Given the description of an element on the screen output the (x, y) to click on. 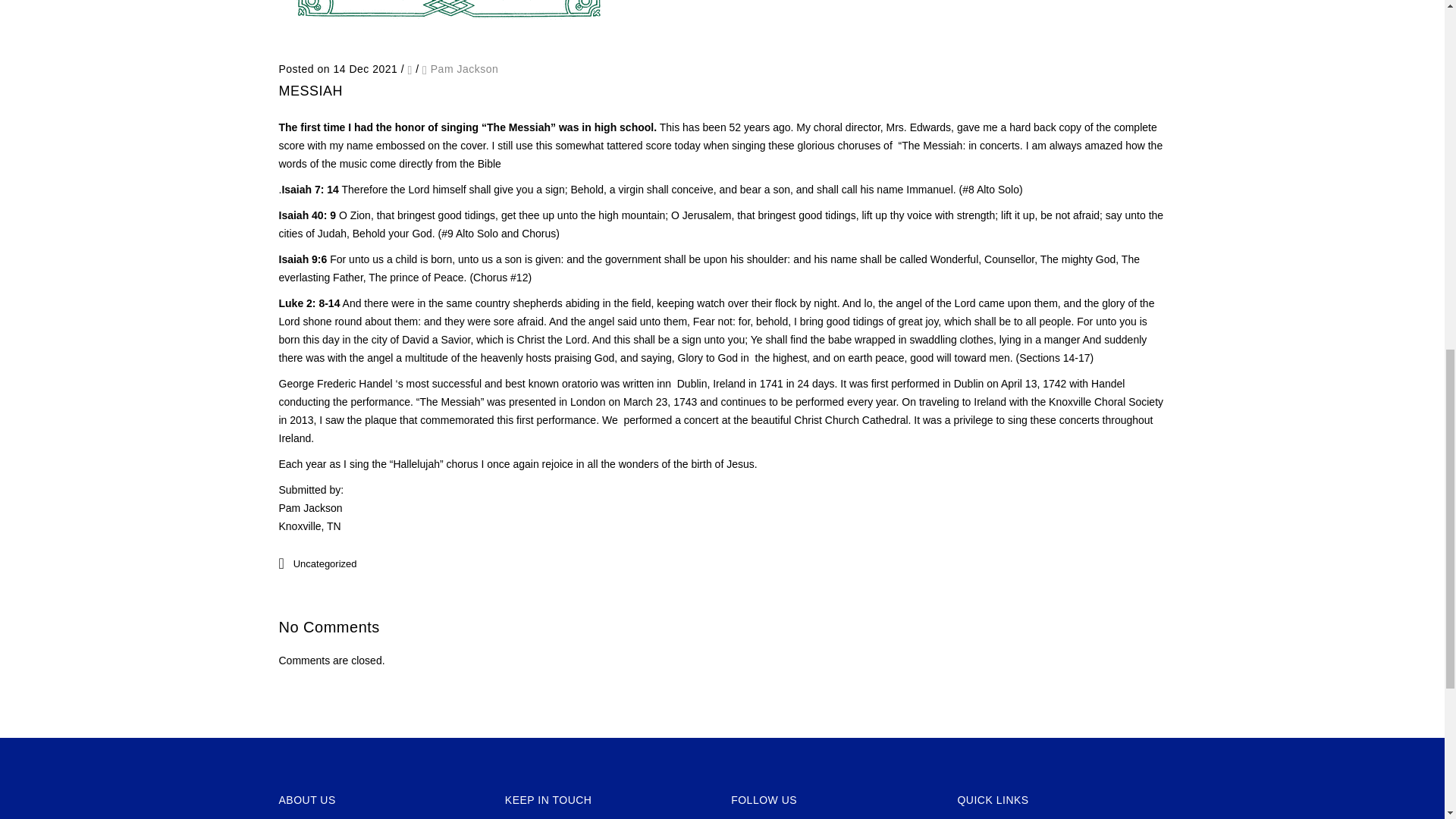
Permalink to Messiah (449, 40)
Pam Jackson (464, 69)
Uncategorized (325, 563)
View all posts by Pam Jackson (464, 69)
MESSIAH (311, 90)
Permalink to Messiah (311, 90)
